Given the description of an element on the screen output the (x, y) to click on. 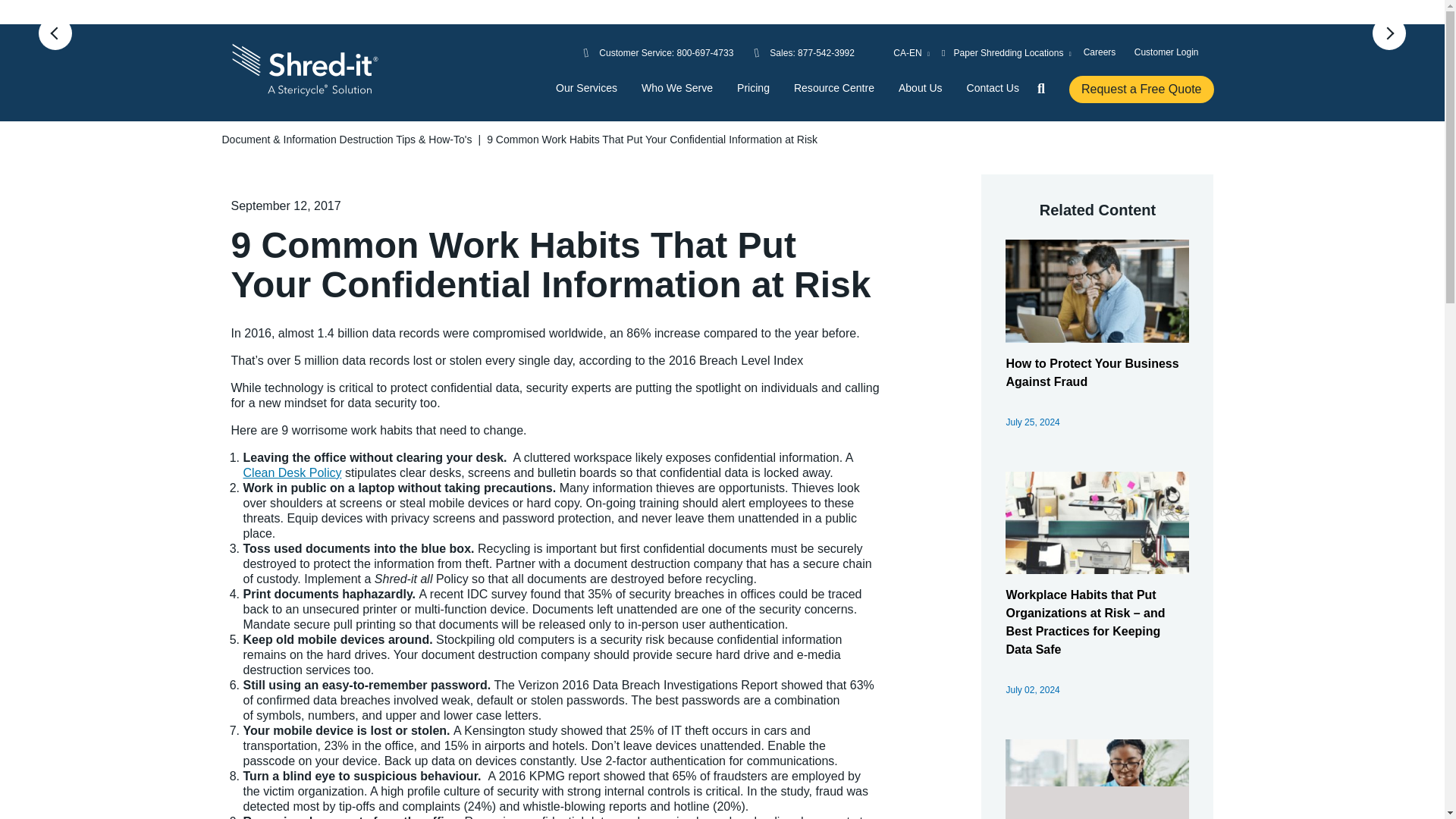
Who We Serve (677, 88)
CA-EN (901, 53)
Our Services (586, 88)
Careers (1099, 52)
Paper Shredding Locations (1006, 53)
Customer Service: 800-697-4733 (665, 53)
Sales: 877-542-3992 (812, 53)
Customer Login (1166, 52)
